Given the description of an element on the screen output the (x, y) to click on. 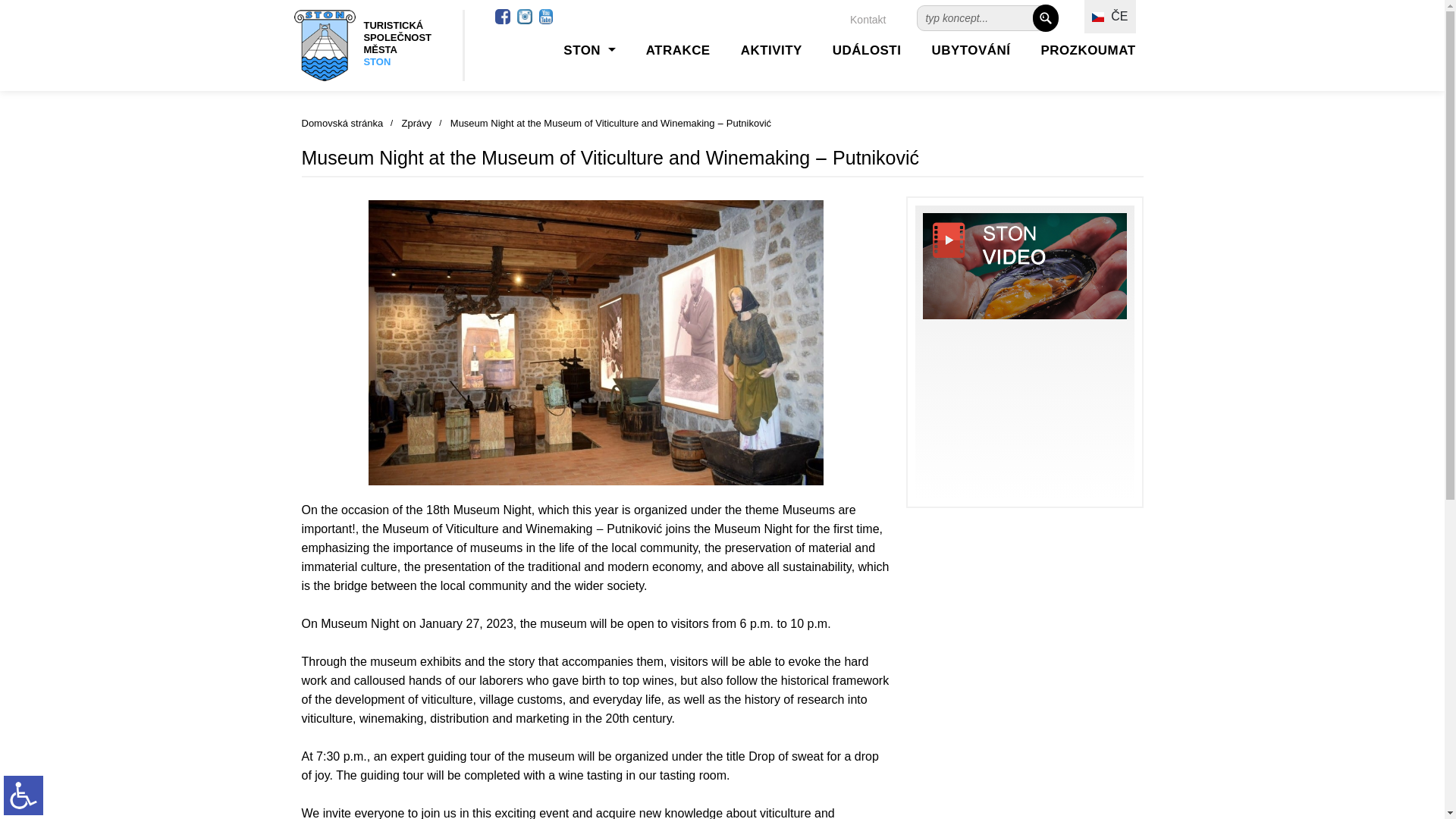
ATRAKCE (678, 50)
PROZKOUMAT (1087, 50)
AKTIVITY (771, 50)
Kontakt (867, 19)
typ koncept... (974, 17)
STON  (589, 50)
